Given the description of an element on the screen output the (x, y) to click on. 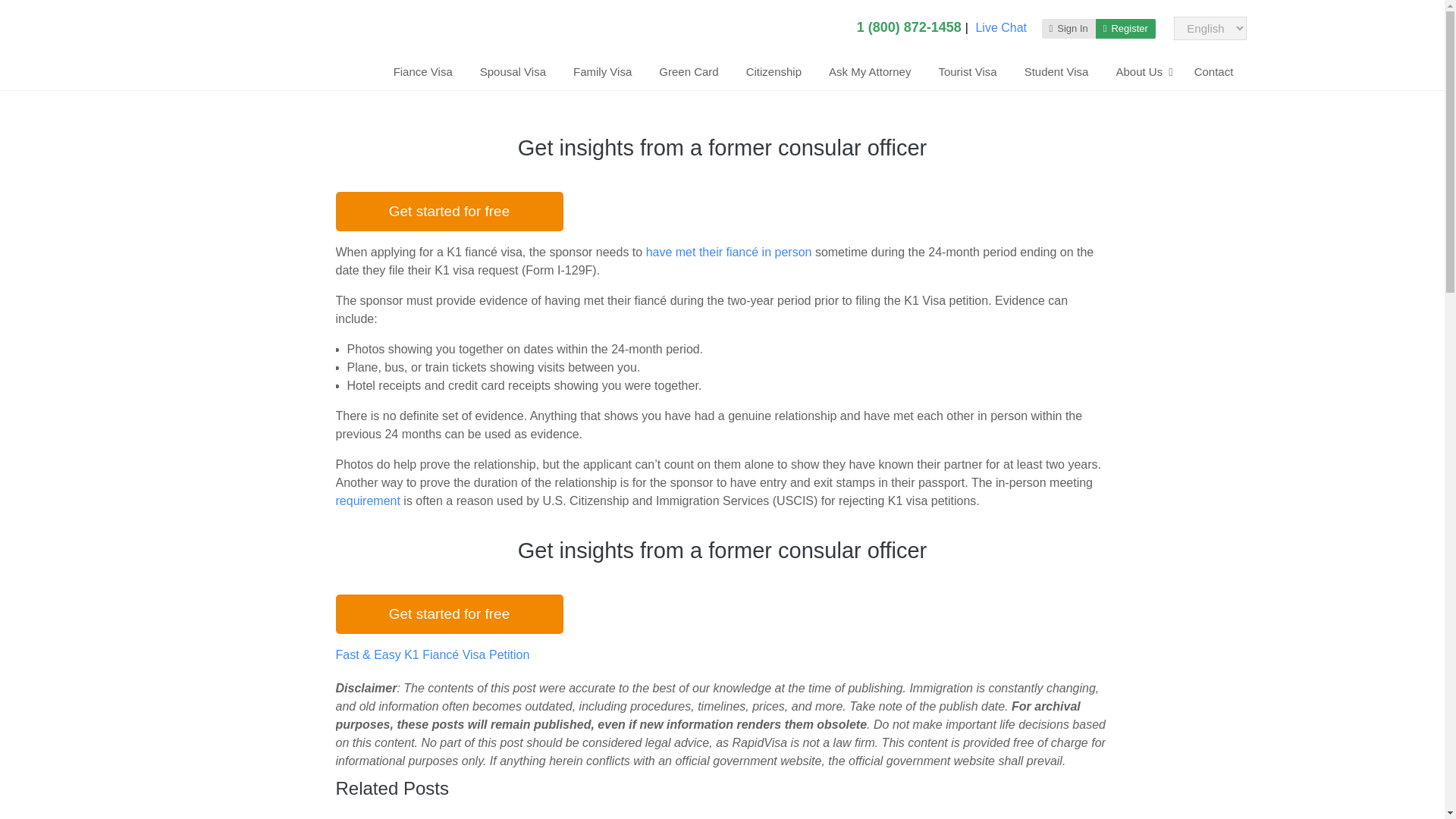
About Us (1140, 72)
Ask My Attorney (869, 71)
Sign In (1069, 27)
Citizenship (773, 71)
Student Visa (1056, 71)
Spousal Visa (512, 71)
Tourist Visa (967, 71)
Register (1126, 27)
Live Chat (1000, 26)
Family Visa (602, 71)
Fiance Visa (422, 71)
Green Card (688, 71)
Contact (1213, 71)
